Given the description of an element on the screen output the (x, y) to click on. 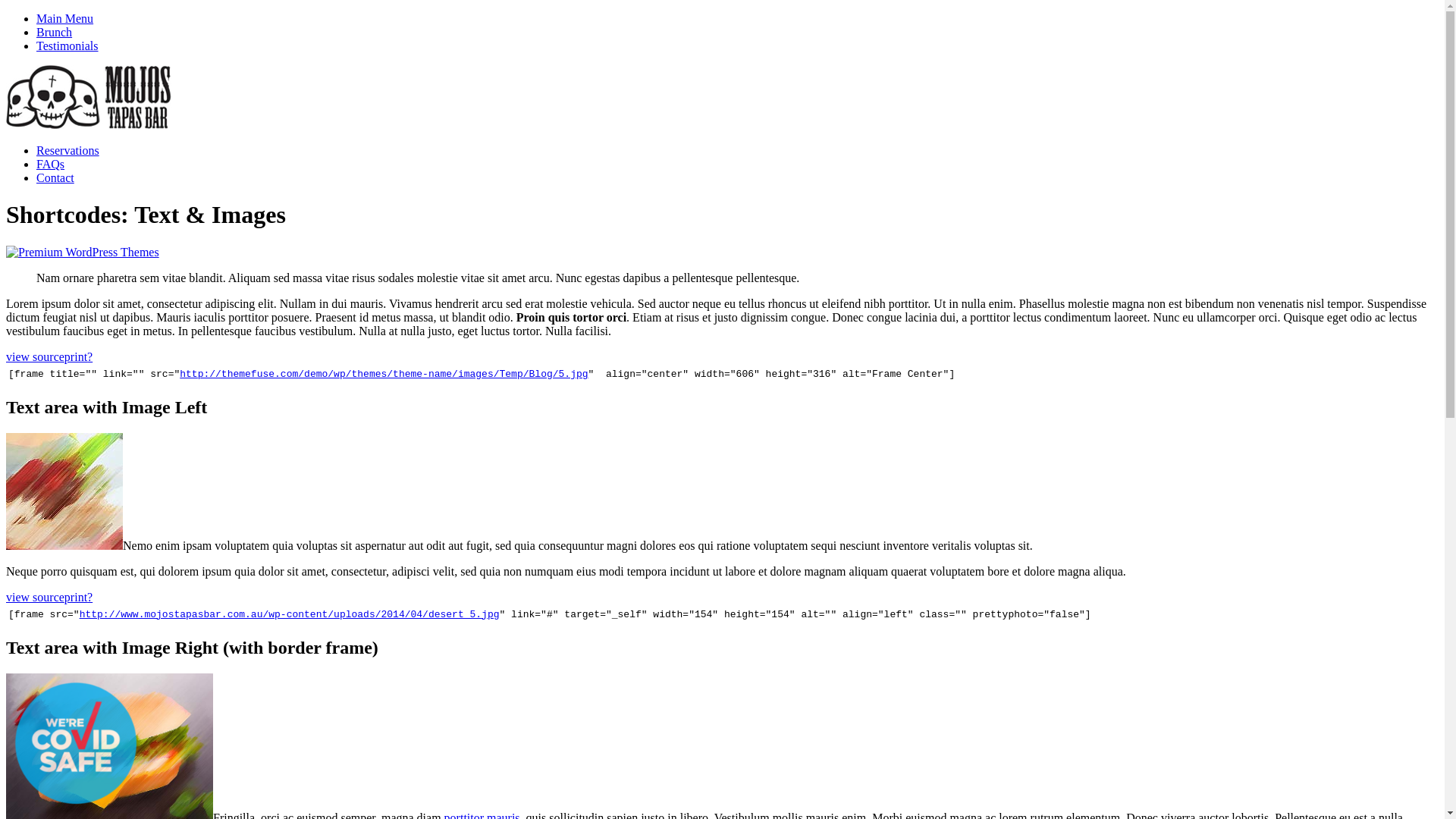
FAQs Element type: text (50, 163)
Reservations Element type: text (67, 150)
? Element type: text (89, 356)
print Element type: text (75, 596)
Contact Element type: text (55, 177)
Testimonials Element type: text (67, 45)
print Element type: text (75, 356)
view source Element type: text (35, 596)
Premium WordPress Themes Element type: hover (82, 251)
Brunch Element type: text (54, 31)
view source Element type: text (35, 356)
? Element type: text (89, 596)
Main Menu Element type: text (64, 18)
